Given the description of an element on the screen output the (x, y) to click on. 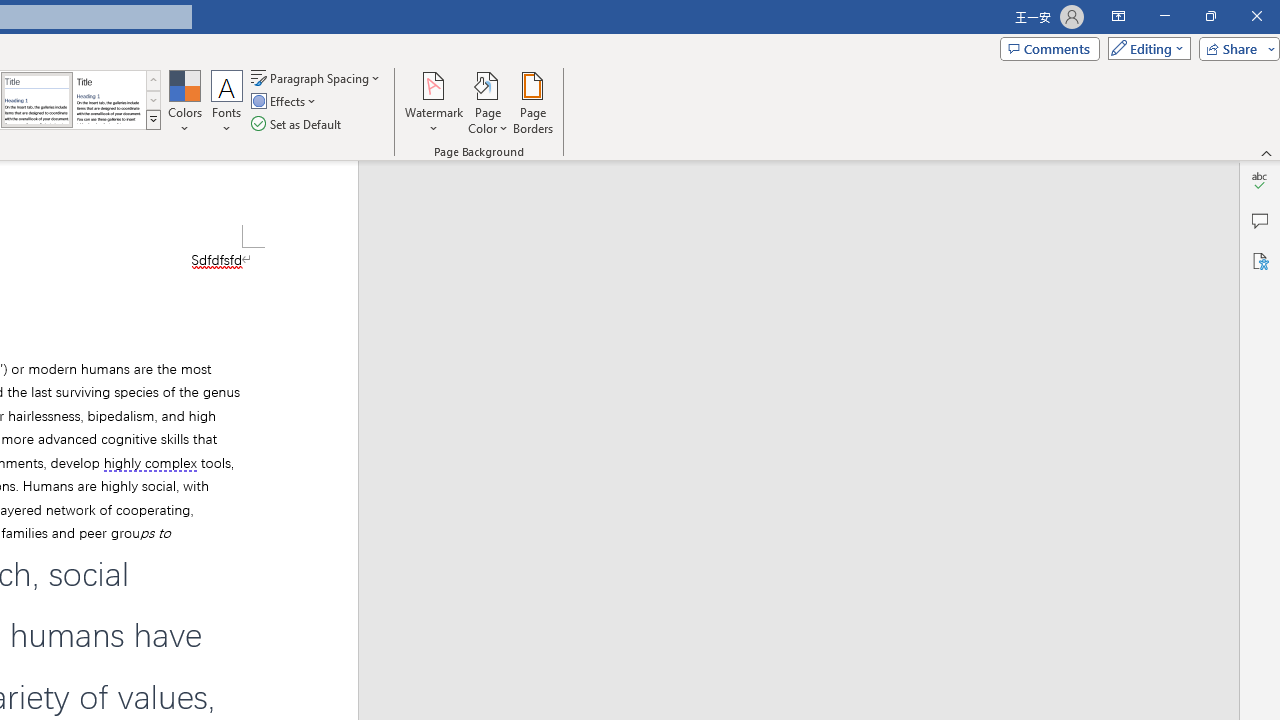
Set as Default (298, 124)
Effects (285, 101)
Colors (184, 102)
Page Borders... (532, 102)
Word 2013 (108, 100)
Word 2010 (36, 100)
